Given the description of an element on the screen output the (x, y) to click on. 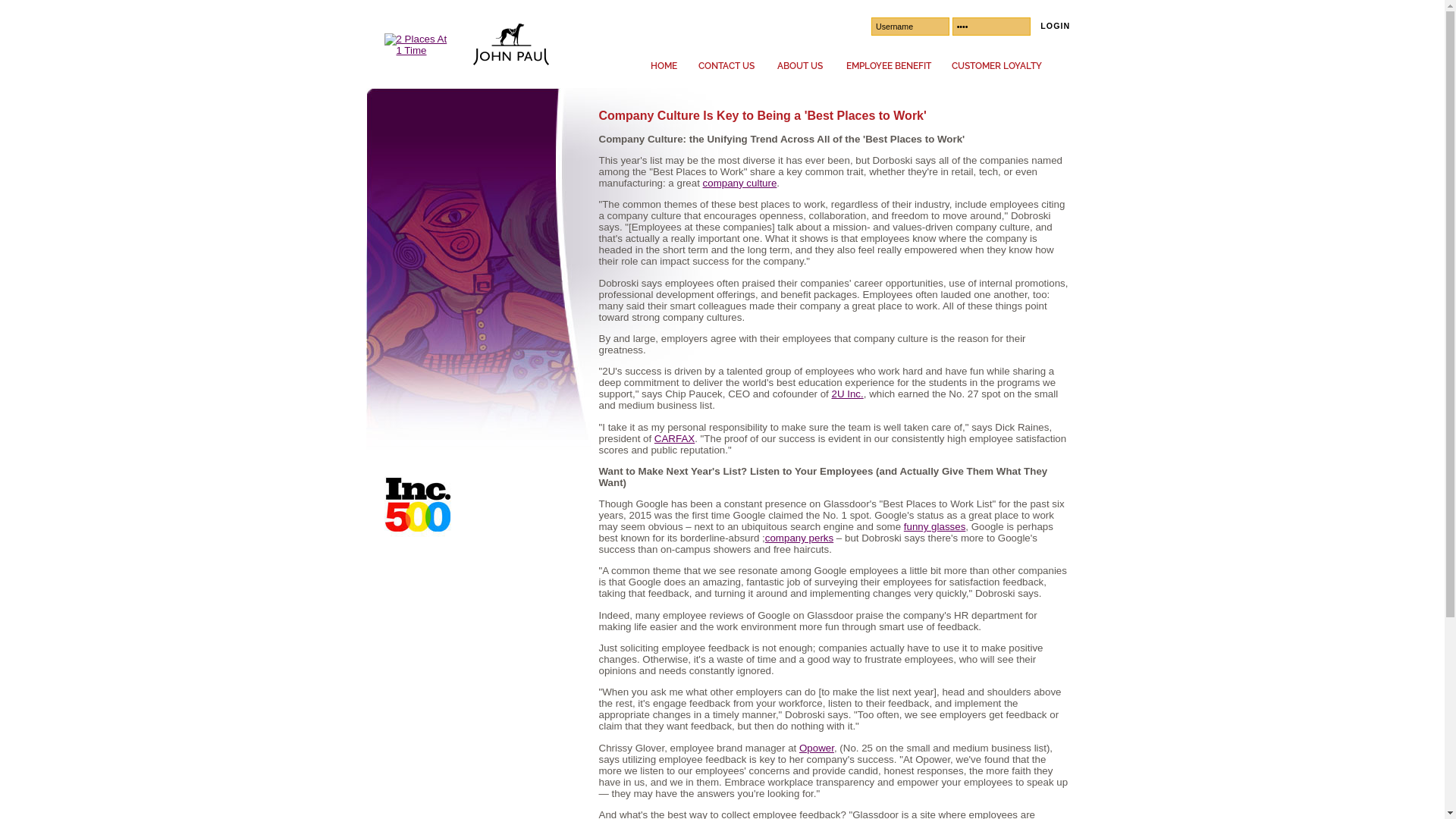
CONTACT US Element type: text (726, 65)
EMPLOYEE BENEFIT Element type: text (887, 65)
2U Inc. Element type: text (847, 393)
company perks Element type: text (799, 537)
funny glasses Element type: text (934, 526)
CARFAX Element type: text (674, 437)
CUSTOMER LOYALTY Element type: text (996, 65)
Opower Element type: text (816, 747)
company culture Element type: text (739, 182)
ABOUT US Element type: text (799, 65)
LOGIN Element type: text (1051, 25)
HOME Element type: text (663, 65)
